Given the description of an element on the screen output the (x, y) to click on. 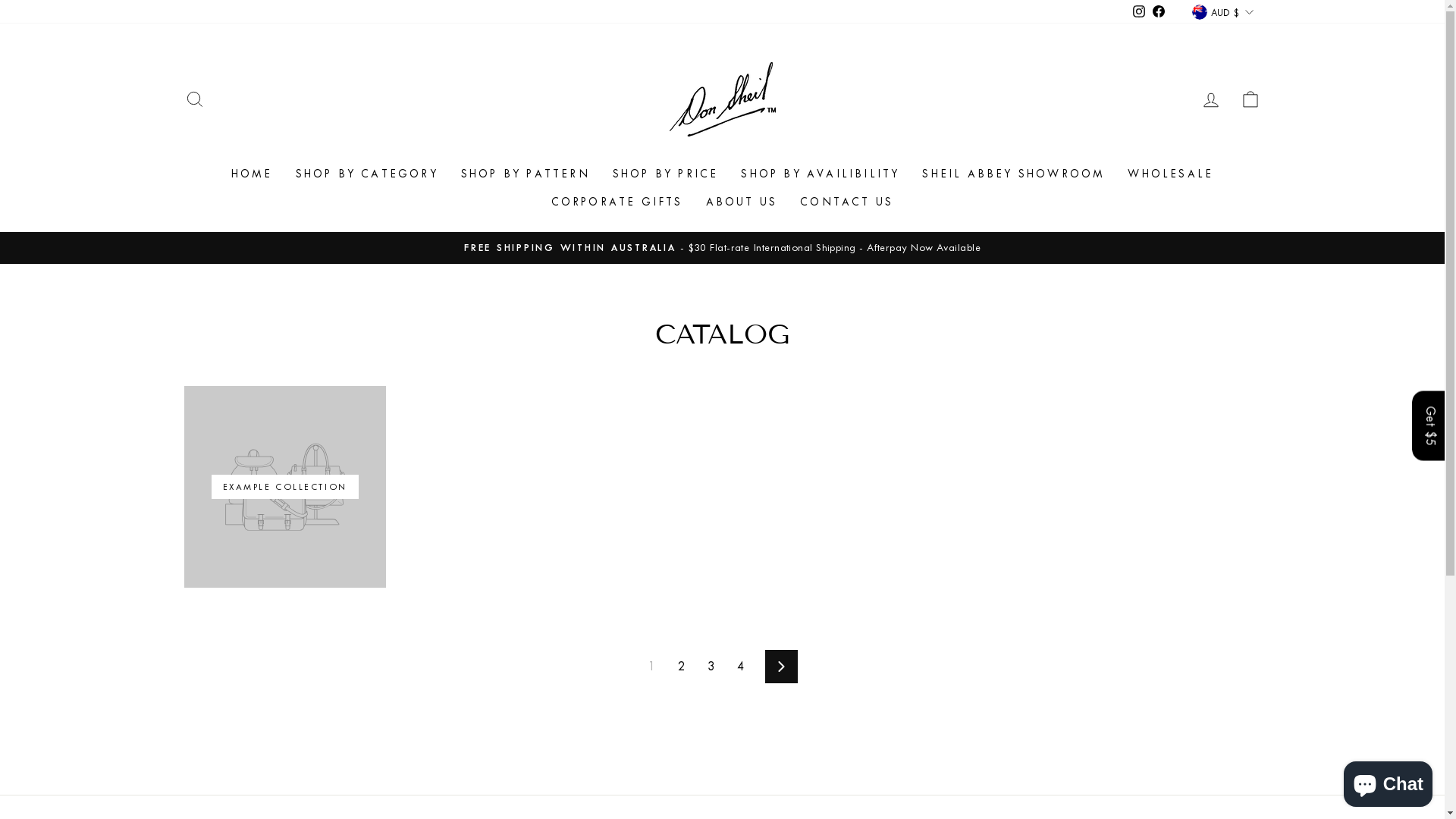
EXAMPLE COLLECTION Element type: text (284, 486)
AUD $ Element type: text (1222, 11)
SEARCH Element type: text (193, 99)
SHOP BY PRICE Element type: text (665, 174)
SHEIL ABBEY SHOWROOM Element type: text (1013, 174)
4 Element type: text (740, 666)
CORPORATE GIFTS Element type: text (616, 202)
2 Element type: text (680, 666)
HOME Element type: text (251, 174)
Skip to content Element type: text (0, 0)
Facebook Element type: text (1158, 11)
WHOLESALE Element type: text (1170, 174)
CONTACT US Element type: text (846, 202)
Shopify online store chat Element type: hover (1388, 780)
ABOUT US Element type: text (741, 202)
LOG IN Element type: text (1210, 99)
CART Element type: text (1249, 99)
Next Element type: text (781, 666)
SHOP BY CATEGORY Element type: text (366, 174)
3 Element type: text (710, 666)
SHOP BY PATTERN Element type: text (525, 174)
SHOP BY AVAILIBILITY Element type: text (819, 174)
Instagram Element type: text (1138, 11)
